Given the description of an element on the screen output the (x, y) to click on. 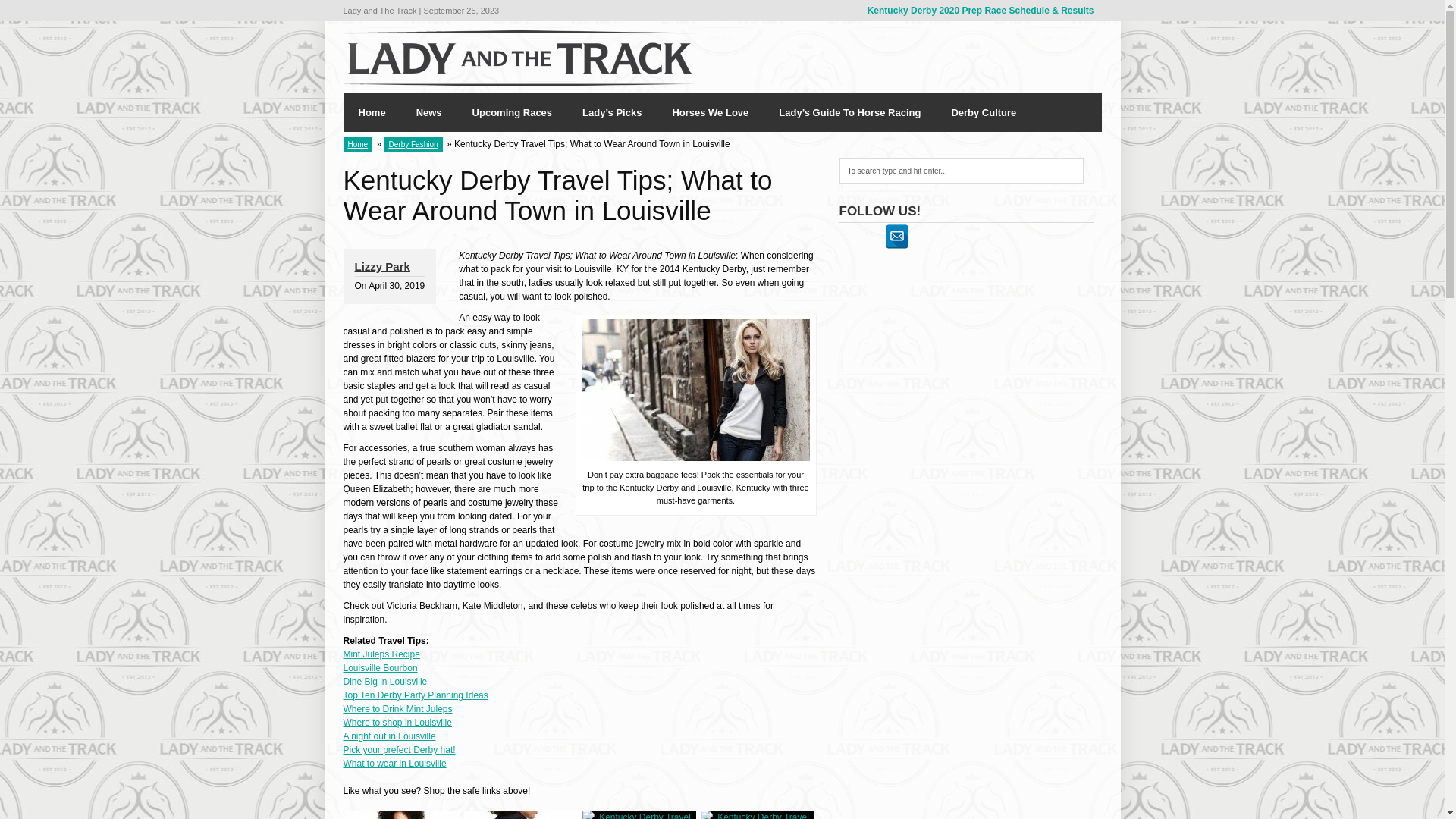
News (429, 112)
Home (357, 144)
Lizzy Park (382, 266)
Derby Fashion (413, 144)
Pick your prefect Derby hat! (398, 749)
What to wear in Louisville (393, 763)
Where to Drink Mint Juleps (396, 708)
Upcoming Races (512, 112)
Posts by Lizzy Park (382, 266)
Horses We Love (709, 112)
Dine Big in Louisville (384, 681)
Louisville Bourbon (379, 667)
Where to shop in Louisville (396, 722)
Derby Culture (983, 112)
Home (371, 112)
